Given the description of an element on the screen output the (x, y) to click on. 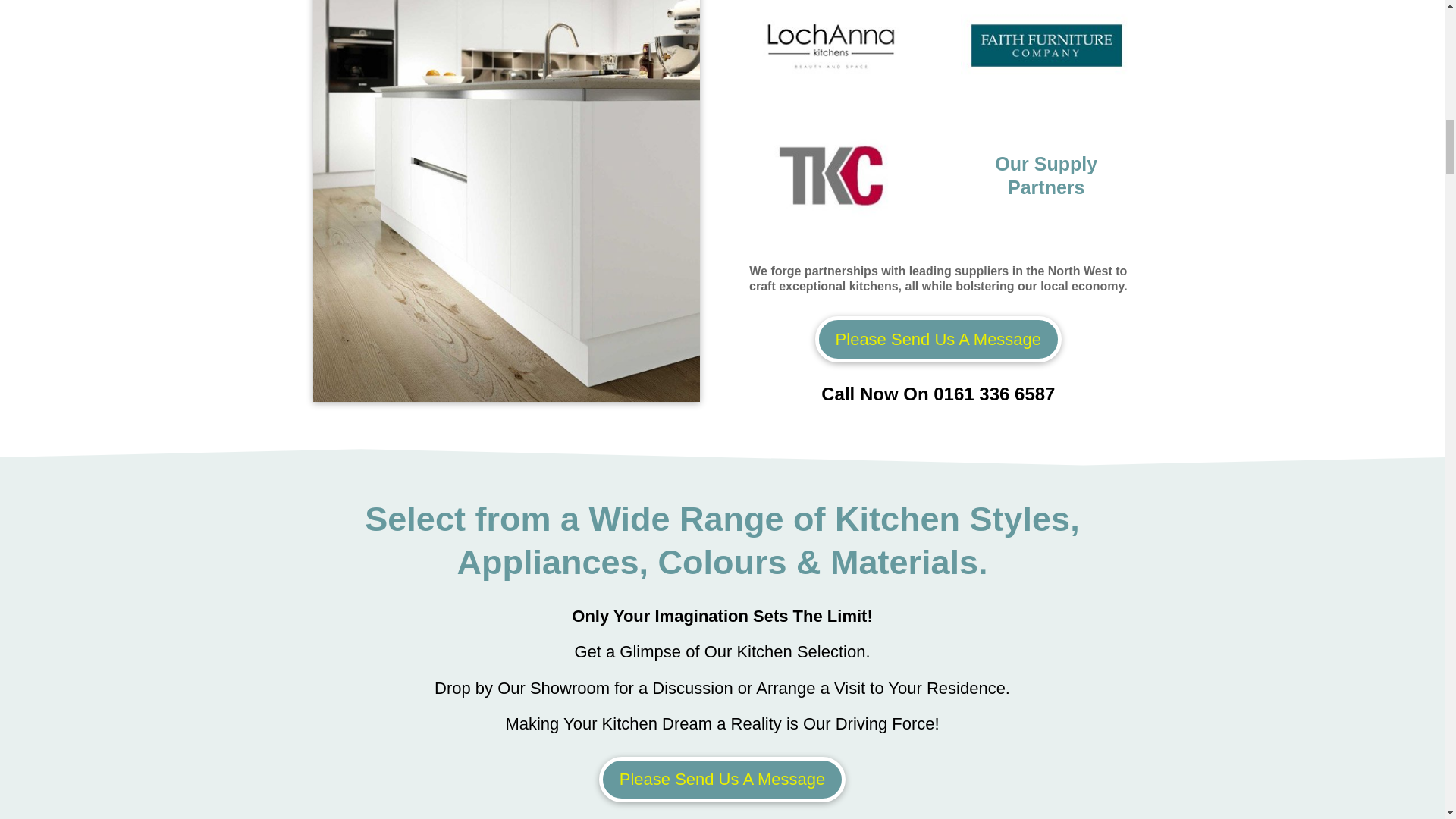
Please Send Us A Message (721, 779)
faith-logo-2 (1045, 45)
Please Send Us A Message (938, 339)
lochanna-logo-2 (829, 45)
tkc-logo-2 (829, 176)
Call Now On 0161 336 6587 (937, 394)
